Given the description of an element on the screen output the (x, y) to click on. 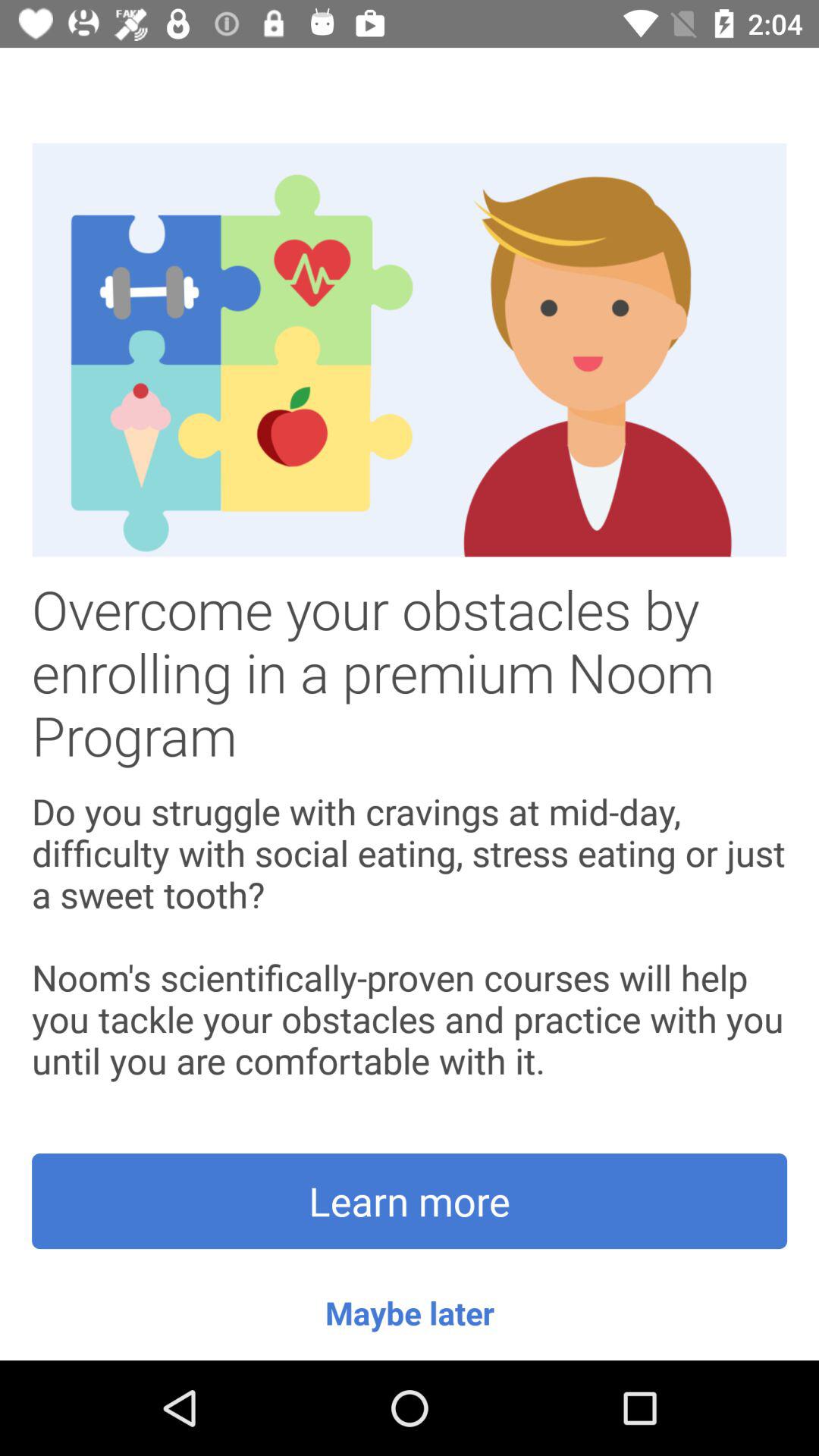
swipe until maybe later (409, 1312)
